Given the description of an element on the screen output the (x, y) to click on. 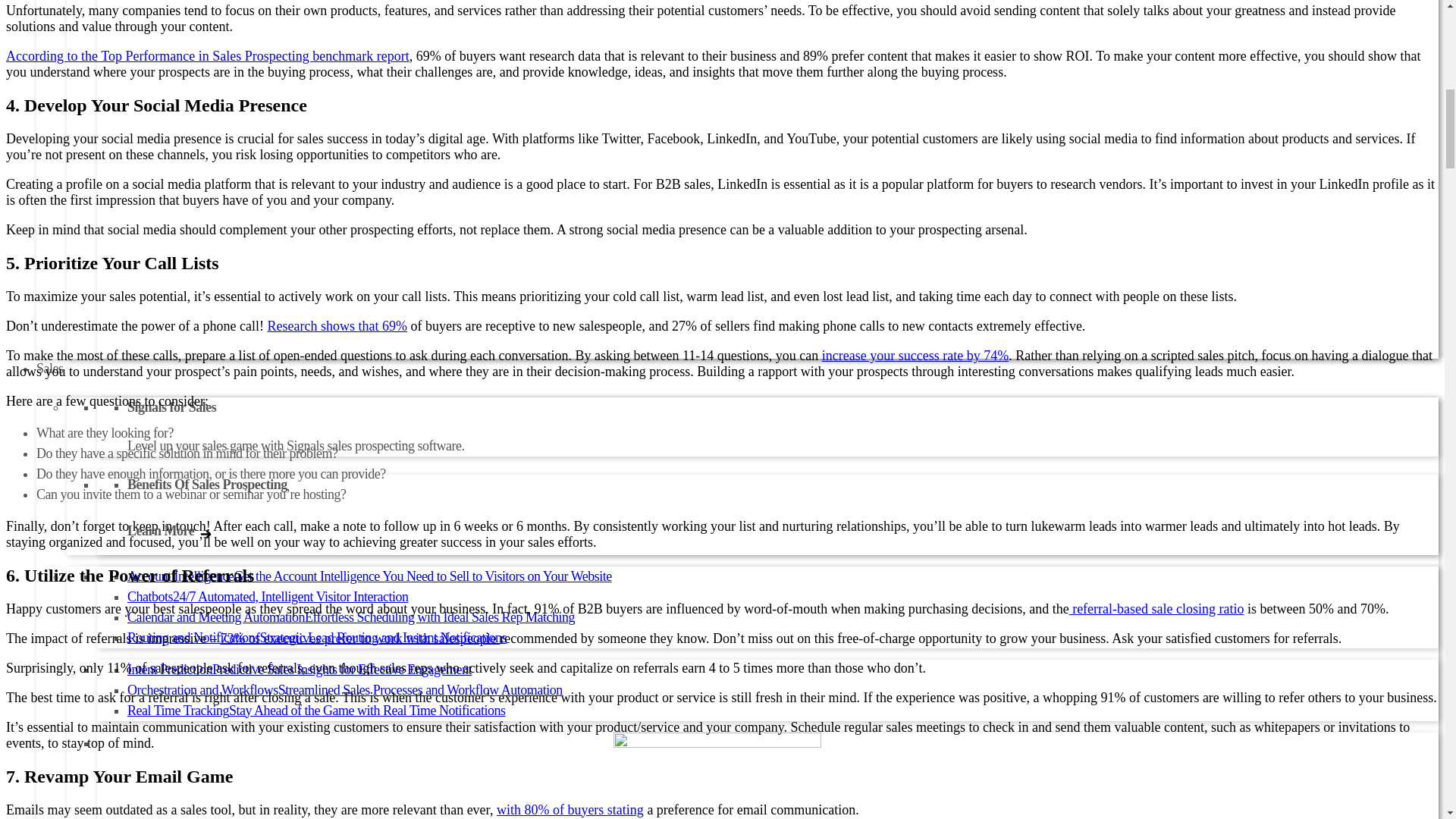
Sales (50, 368)
